Given the description of an element on the screen output the (x, y) to click on. 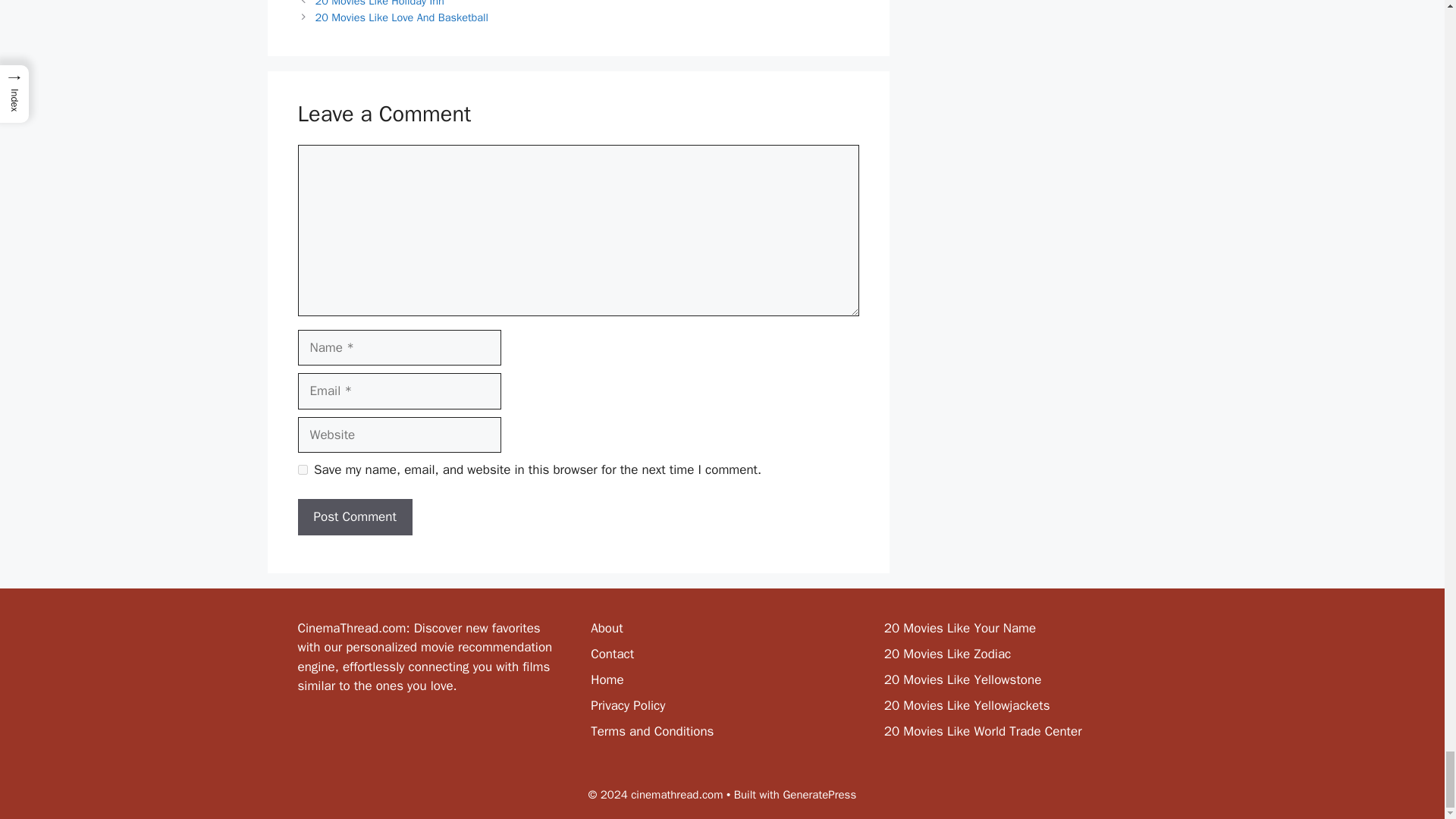
Post Comment (354, 516)
yes (302, 470)
